Given the description of an element on the screen output the (x, y) to click on. 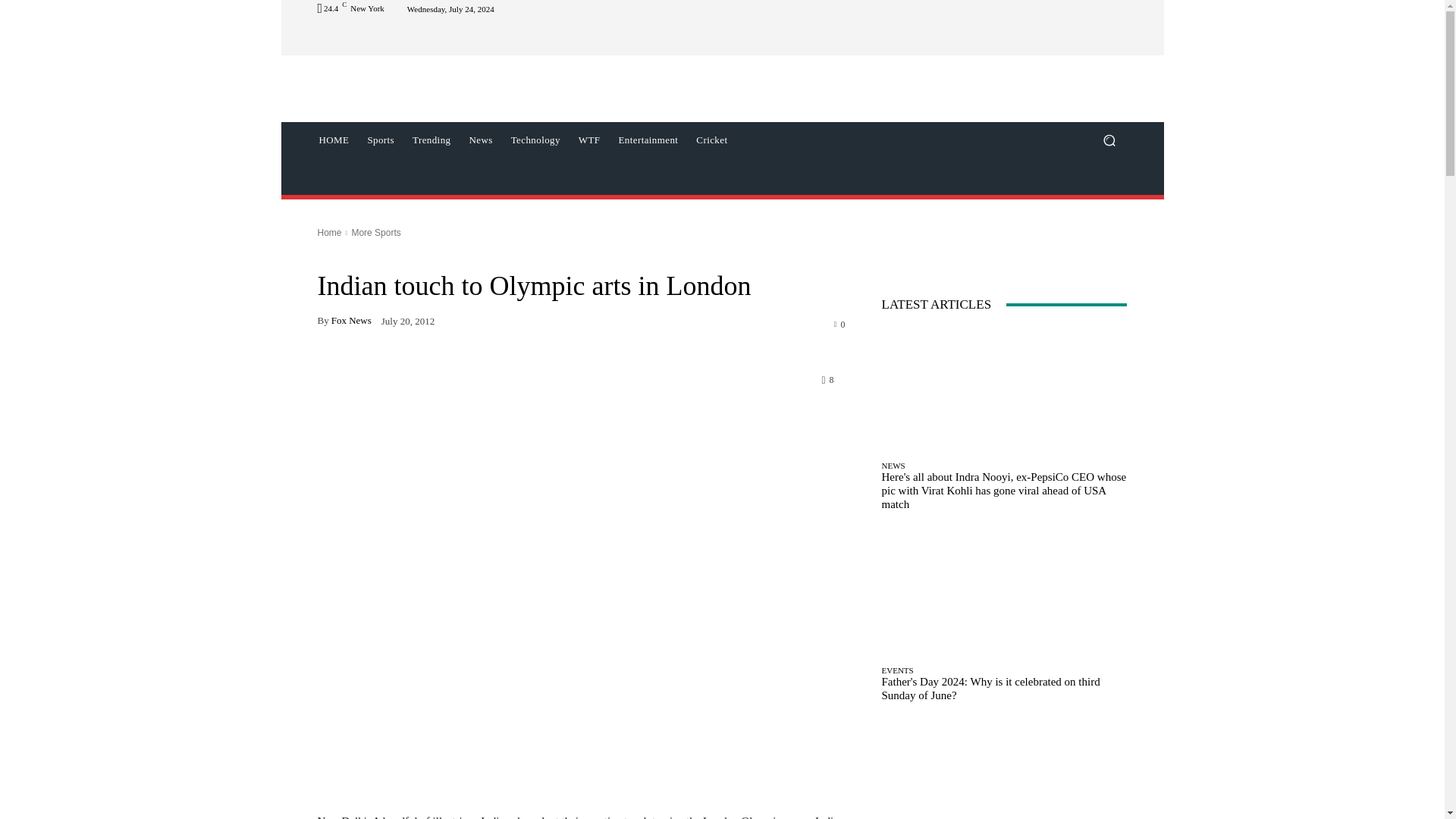
Home (328, 232)
View all posts in More Sports (375, 232)
0 (839, 323)
News (480, 140)
HOME (333, 140)
Trending (431, 140)
Cricket (711, 140)
More Sports (375, 232)
WTF (589, 140)
Entertainment (648, 140)
Technology (535, 140)
Sports (380, 140)
Fox News (351, 320)
